Given the description of an element on the screen output the (x, y) to click on. 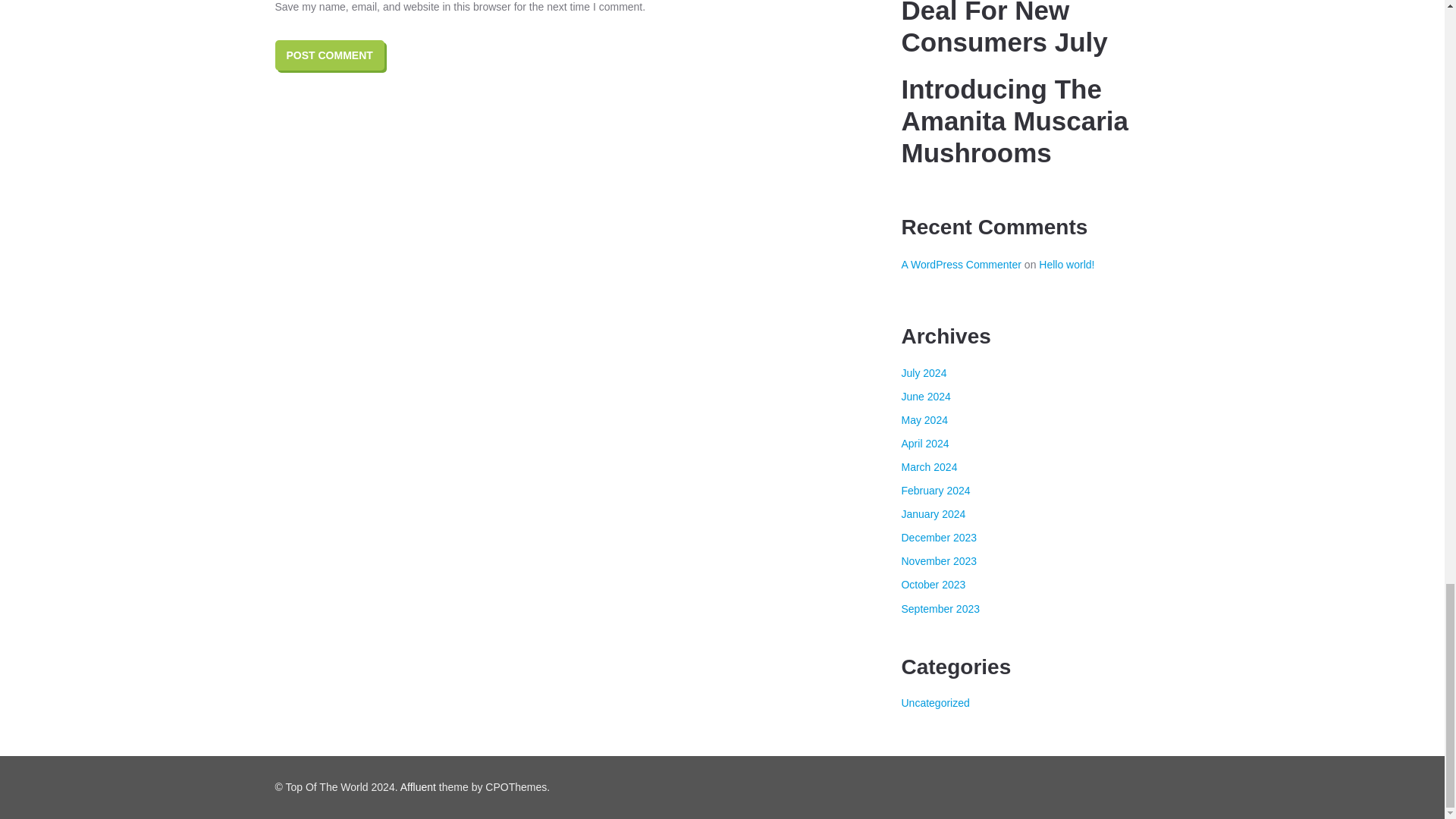
Post Comment (329, 55)
Post Comment (329, 55)
